Given the description of an element on the screen output the (x, y) to click on. 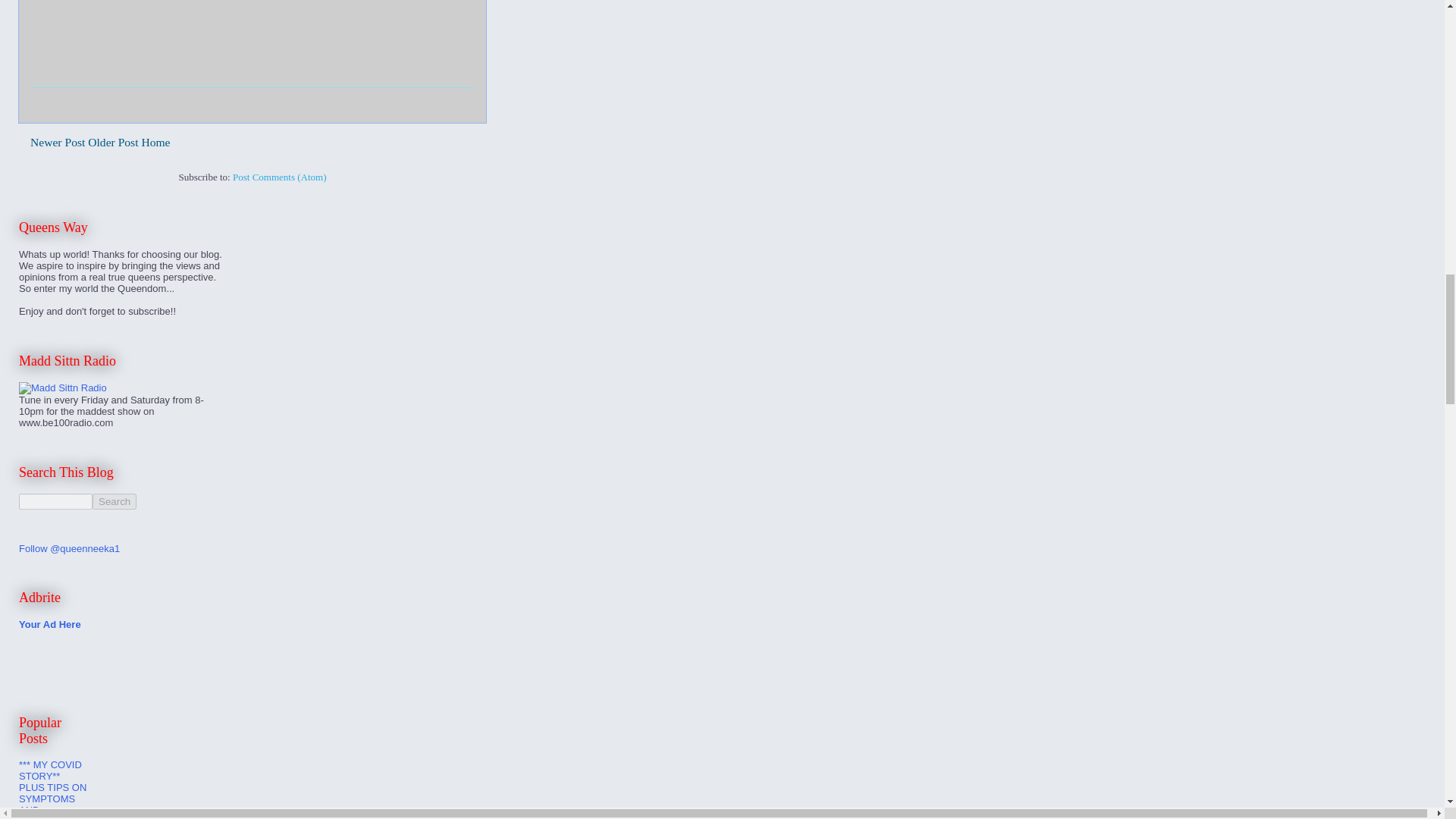
Older Post (112, 141)
Newer Post (57, 141)
Your Ad Here (49, 624)
Search (114, 501)
Older Post (112, 141)
search (55, 501)
Newer Post (57, 141)
Search (114, 501)
Home (155, 141)
search (114, 501)
Search (114, 501)
